Given the description of an element on the screen output the (x, y) to click on. 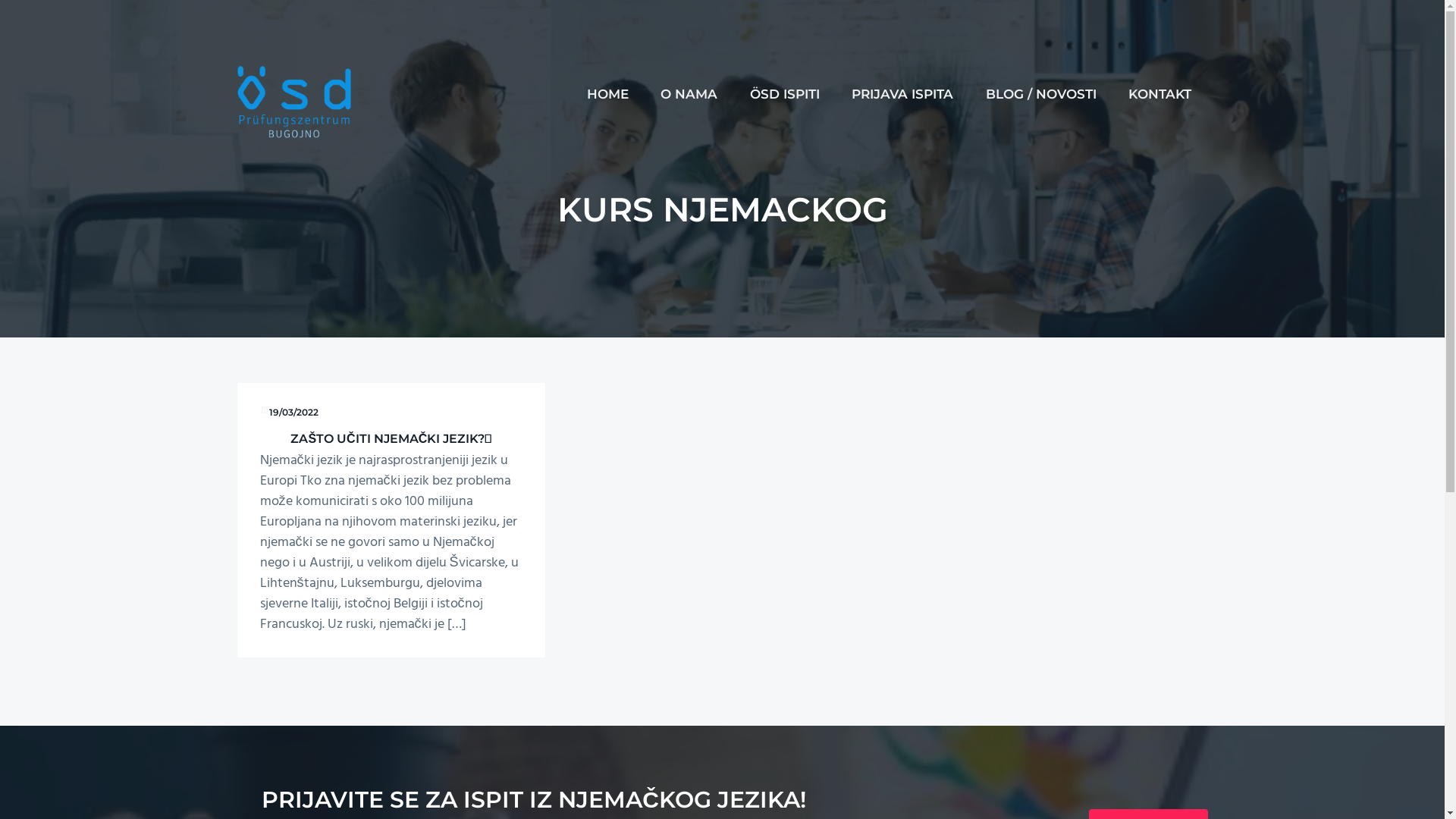
BLOG / NOVOSTI Element type: text (1040, 94)
KONTAKT Element type: text (1160, 94)
O NAMA Element type: text (689, 94)
PRIJAVA ISPITA Element type: text (902, 94)
HOME Element type: text (607, 94)
Skip to primary navigation Element type: text (0, 0)
